Given the description of an element on the screen output the (x, y) to click on. 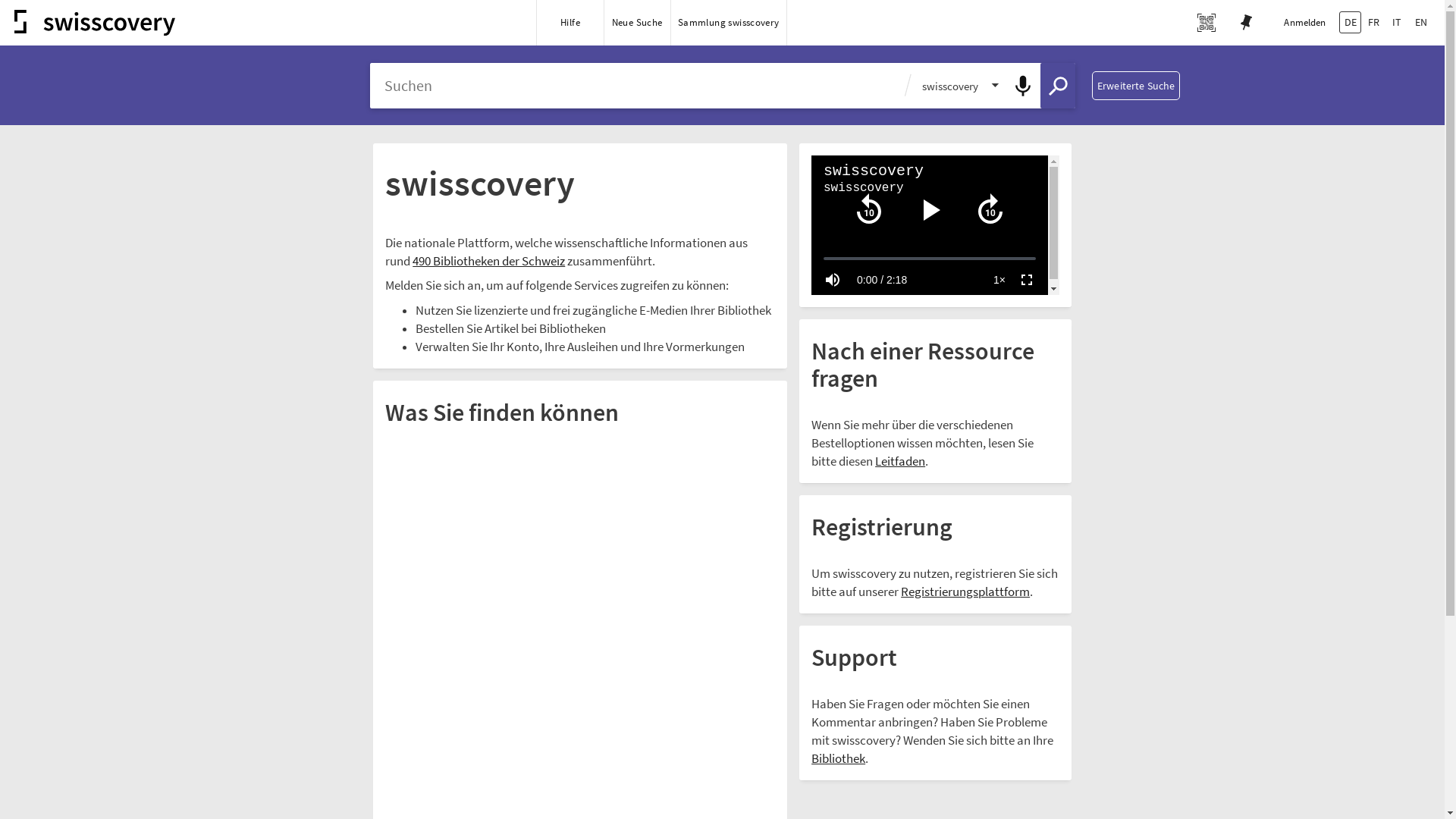
DE Element type: text (1350, 22)
490 Bibliotheken der Schweiz Element type: text (488, 261)
Leitfaden Element type: text (900, 461)
Registrierungsplattform Element type: text (964, 592)
Erweiterte Suche Element type: text (1135, 85)
Bibliothek Element type: text (838, 759)
EN Element type: text (1420, 22)
IT Element type: text (1397, 22)
Anmelden Element type: text (1304, 22)
FR Element type: text (1373, 22)
